Given the description of an element on the screen output the (x, y) to click on. 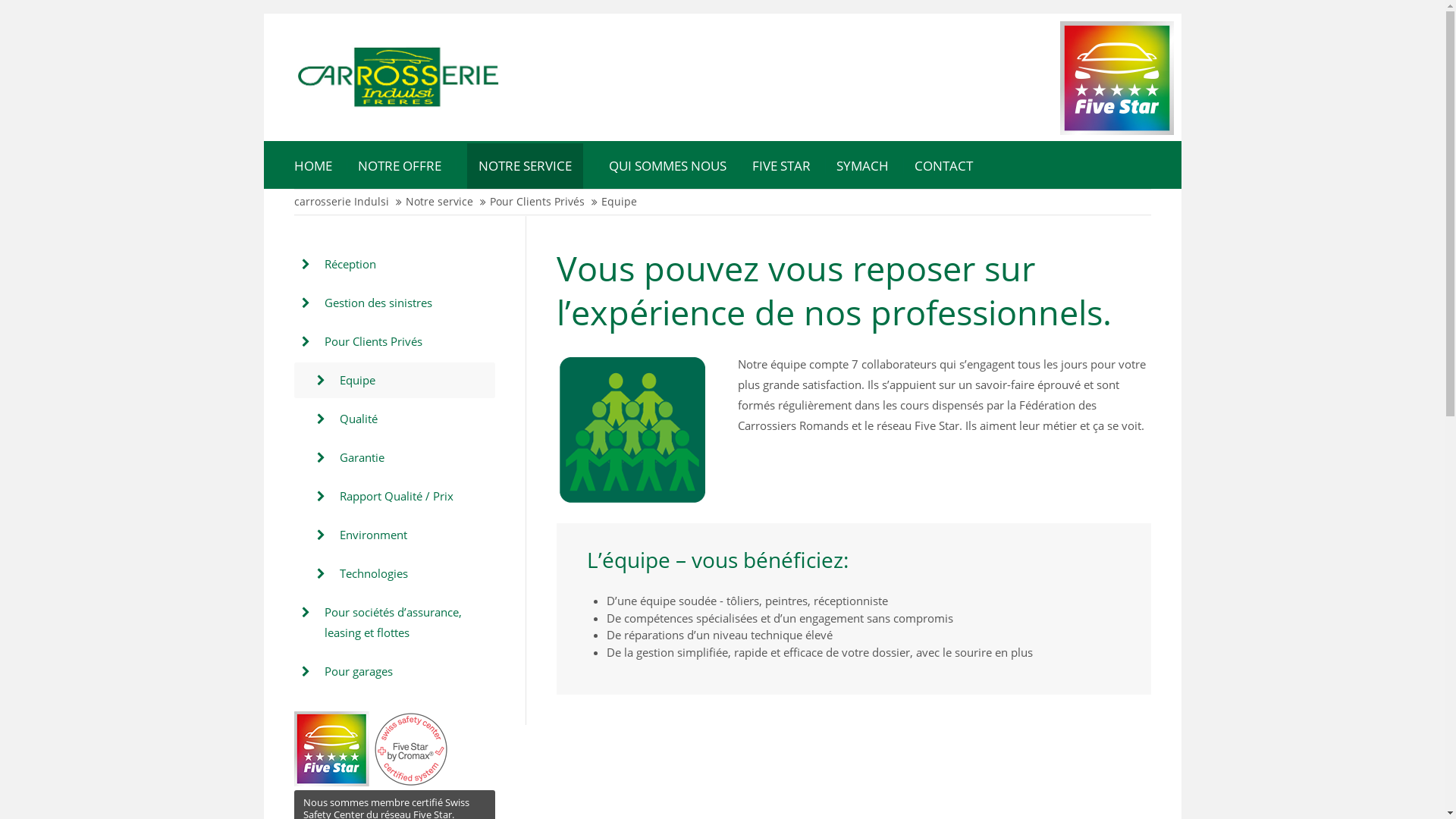
carrosserie Indulsi Element type: text (341, 201)
Equipe Element type: text (394, 380)
Pour garages Element type: text (394, 671)
Gestion des sinistres Element type: text (394, 302)
NOTRE OFFRE Element type: text (399, 165)
CONTACT Element type: text (943, 165)
QUI SOMMES NOUS Element type: text (666, 165)
SYMACH Element type: text (861, 165)
Technologies Element type: text (394, 572)
Garantie Element type: text (394, 457)
NOTRE SERVICE Element type: text (525, 165)
Notre service Element type: text (438, 201)
Environment Element type: text (394, 534)
HOME Element type: text (313, 165)
FIVE STAR Element type: text (781, 165)
